Given the description of an element on the screen output the (x, y) to click on. 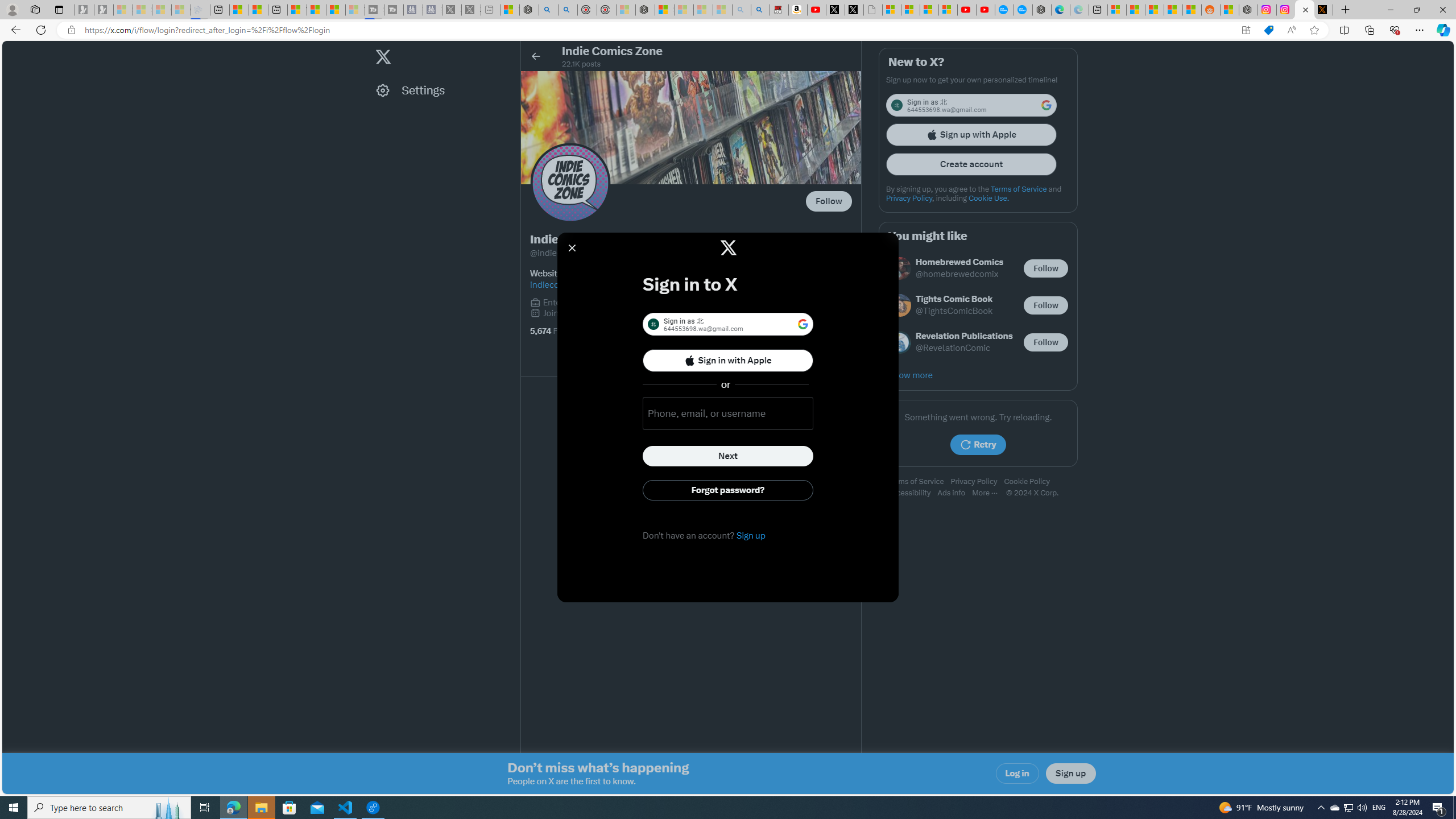
New tab - Sleeping (490, 9)
poe - Search (548, 9)
App available. Install X (1245, 29)
YouTube Kids - An App Created for Kids to Explore Content (985, 9)
Amazon Echo Dot PNG - Search Images (759, 9)
Nordace - Summer Adventures 2024 (1248, 9)
